Given the description of an element on the screen output the (x, y) to click on. 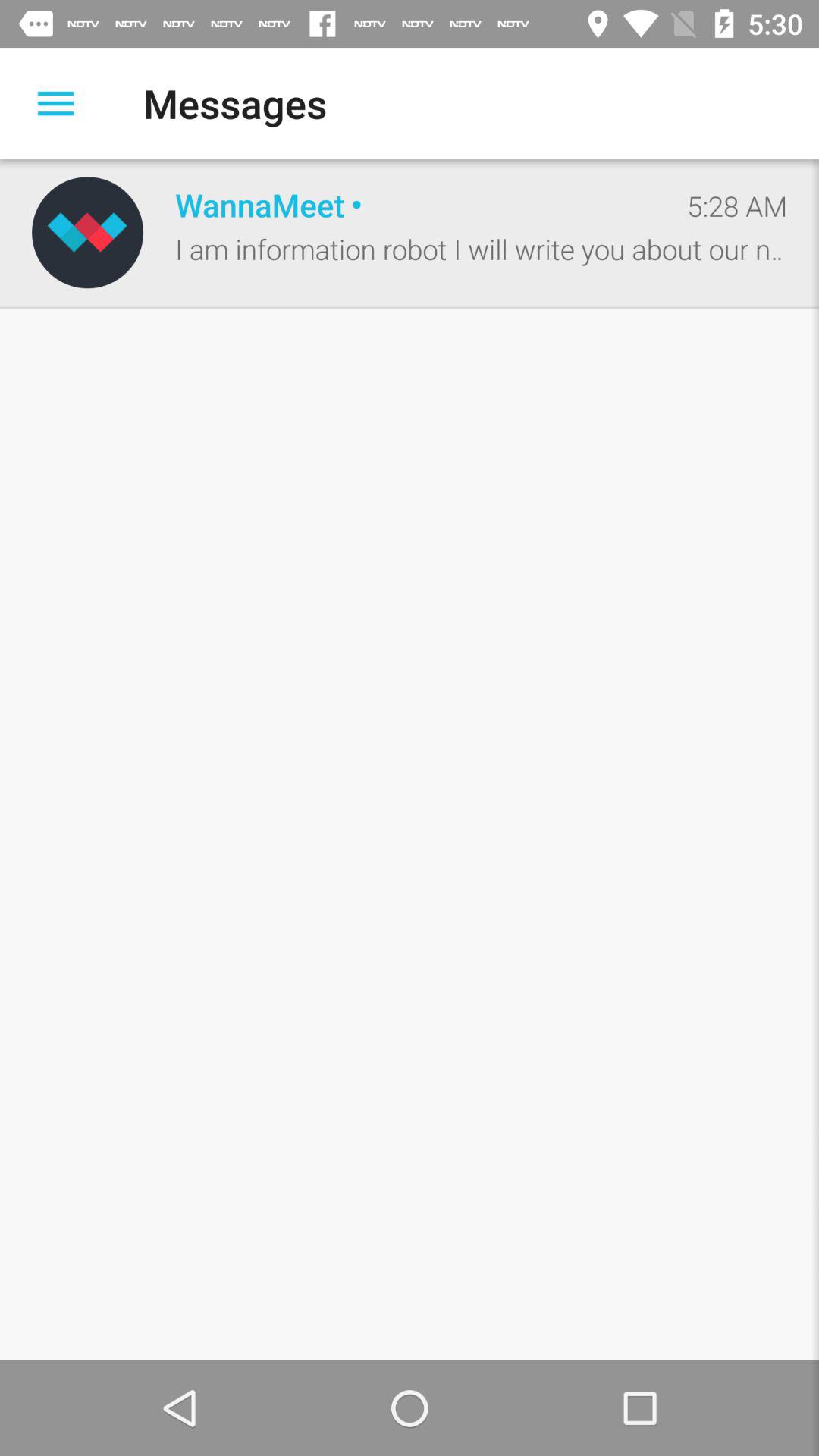
choose item next to wannameet   item (87, 232)
